Given the description of an element on the screen output the (x, y) to click on. 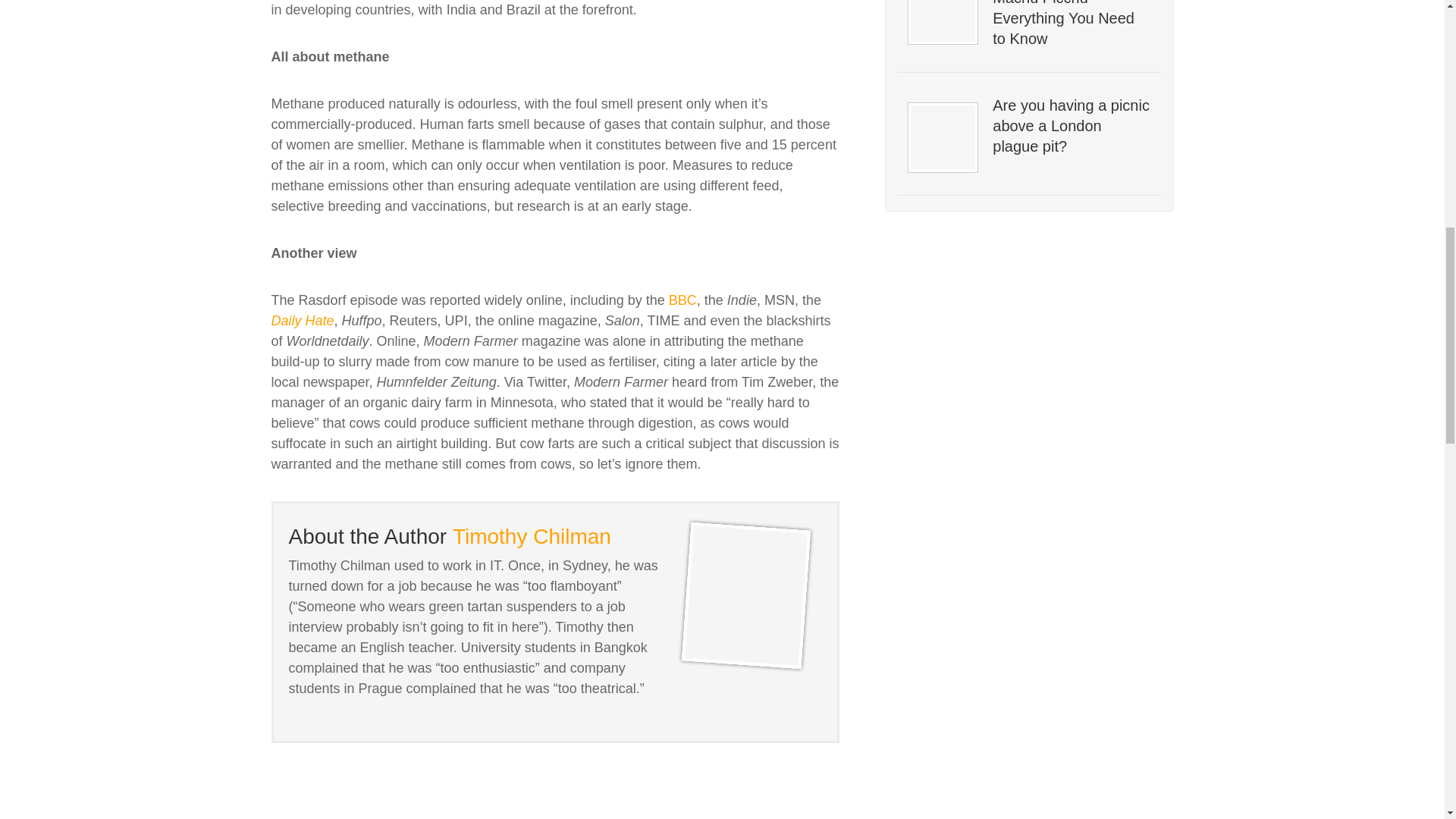
Are you having a picnic above a London plague pit? (1071, 126)
Timothy Chilman (531, 535)
Daily Hate (302, 320)
BBC (682, 299)
